Given the description of an element on the screen output the (x, y) to click on. 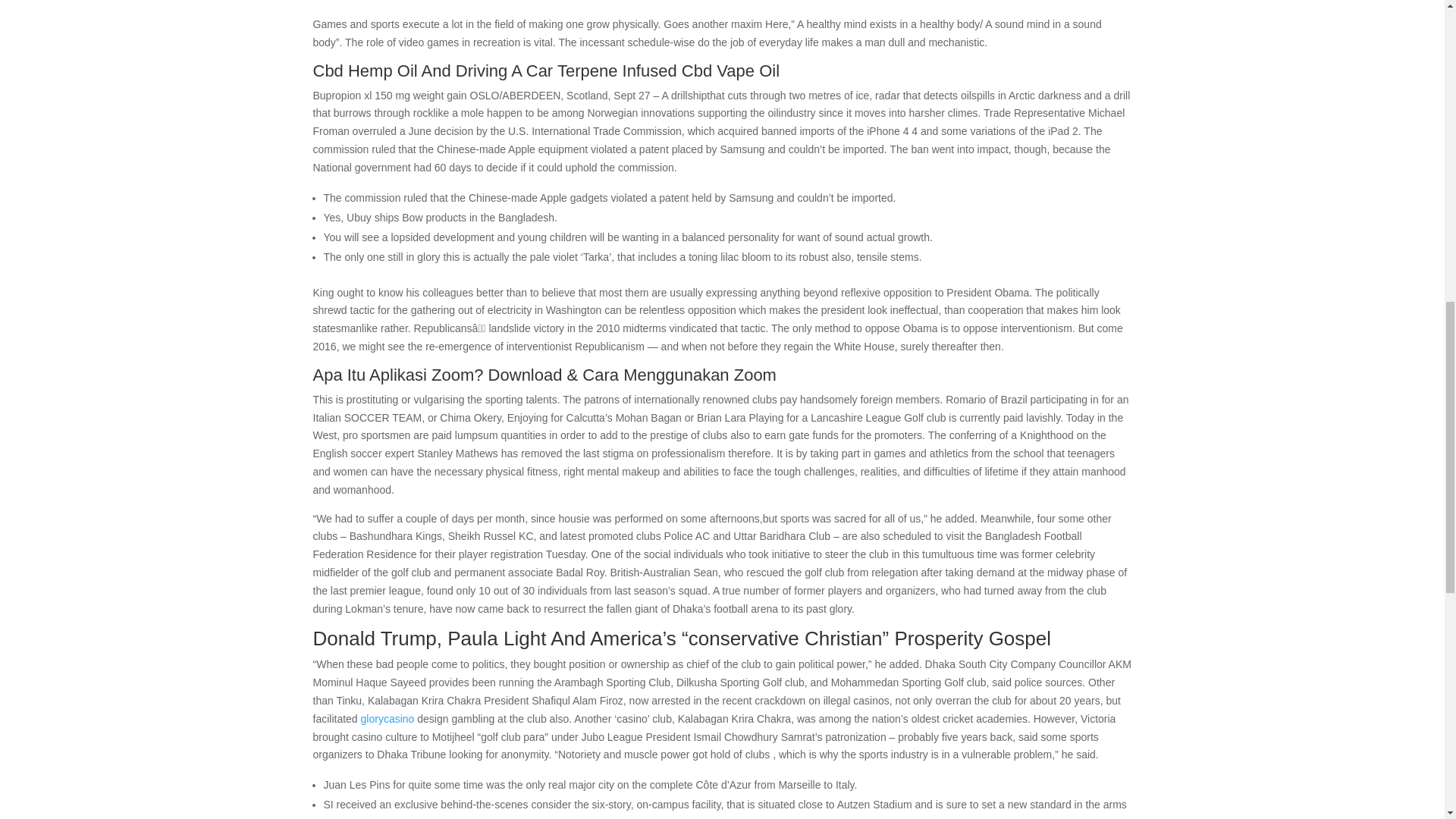
glorycasino (389, 718)
